Given the description of an element on the screen output the (x, y) to click on. 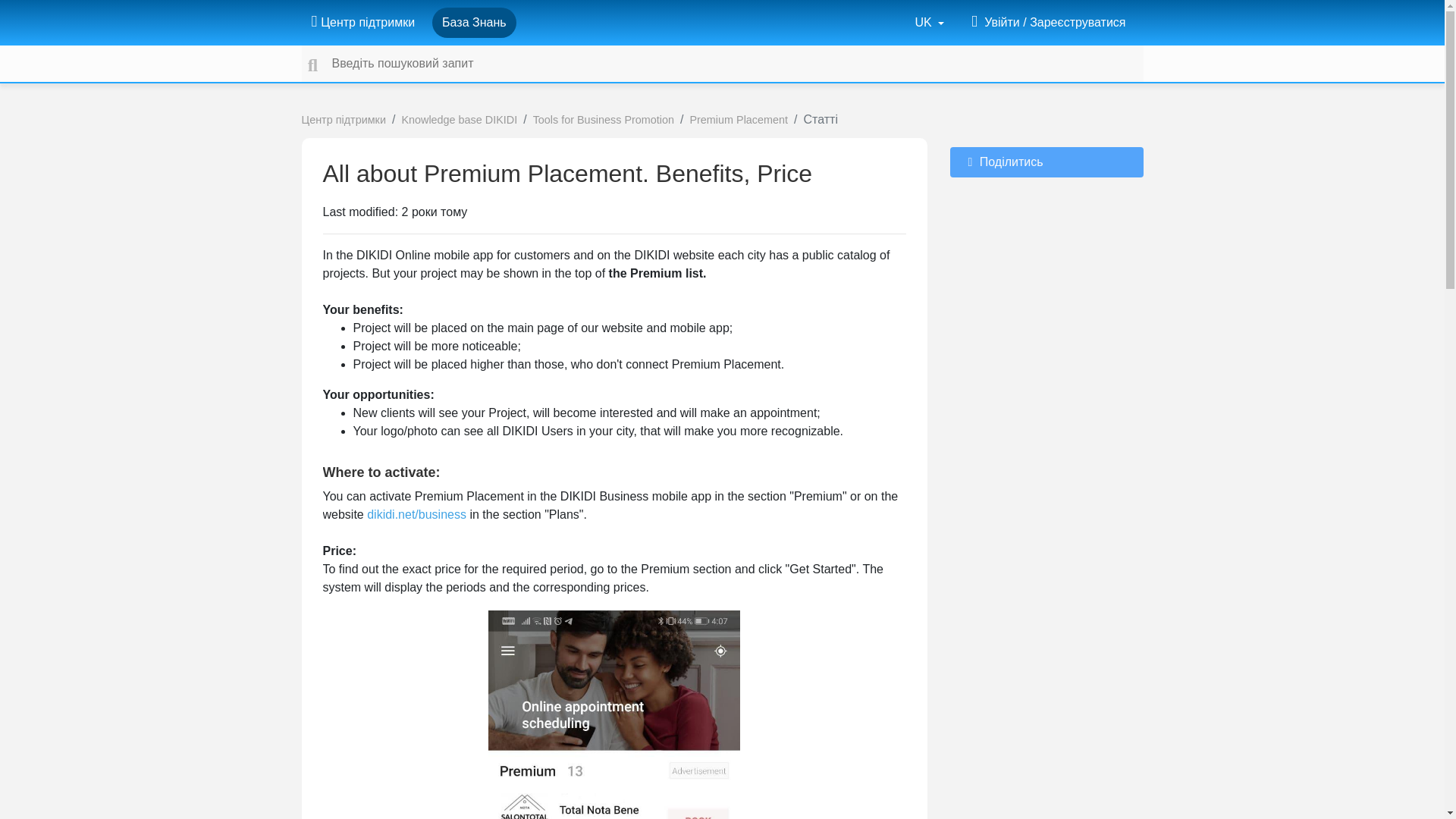
Premium Placement (737, 119)
Knowledge base DIKIDI (458, 119)
Tools for Business Promotion (603, 119)
UK (929, 22)
